Given the description of an element on the screen output the (x, y) to click on. 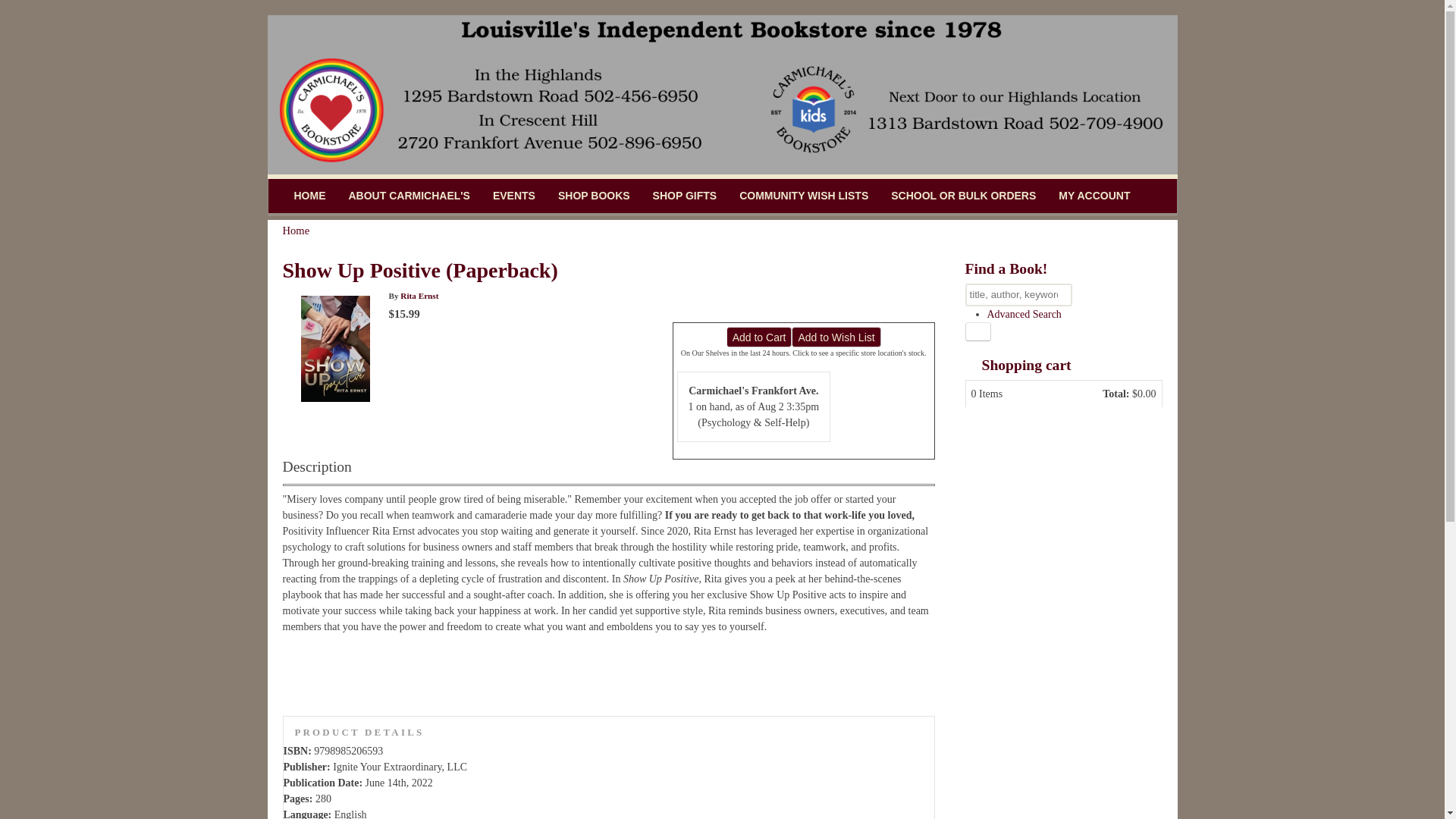
Add to Cart (759, 336)
Rita Ernst (419, 295)
Home (295, 230)
MY ACCOUNT (1094, 195)
Add to Cart (759, 336)
Add to Wish List (836, 336)
SCHOOL OR BULK ORDERS (963, 195)
Search (976, 331)
COMMUNITY WISH LISTS (804, 195)
